Given the description of an element on the screen output the (x, y) to click on. 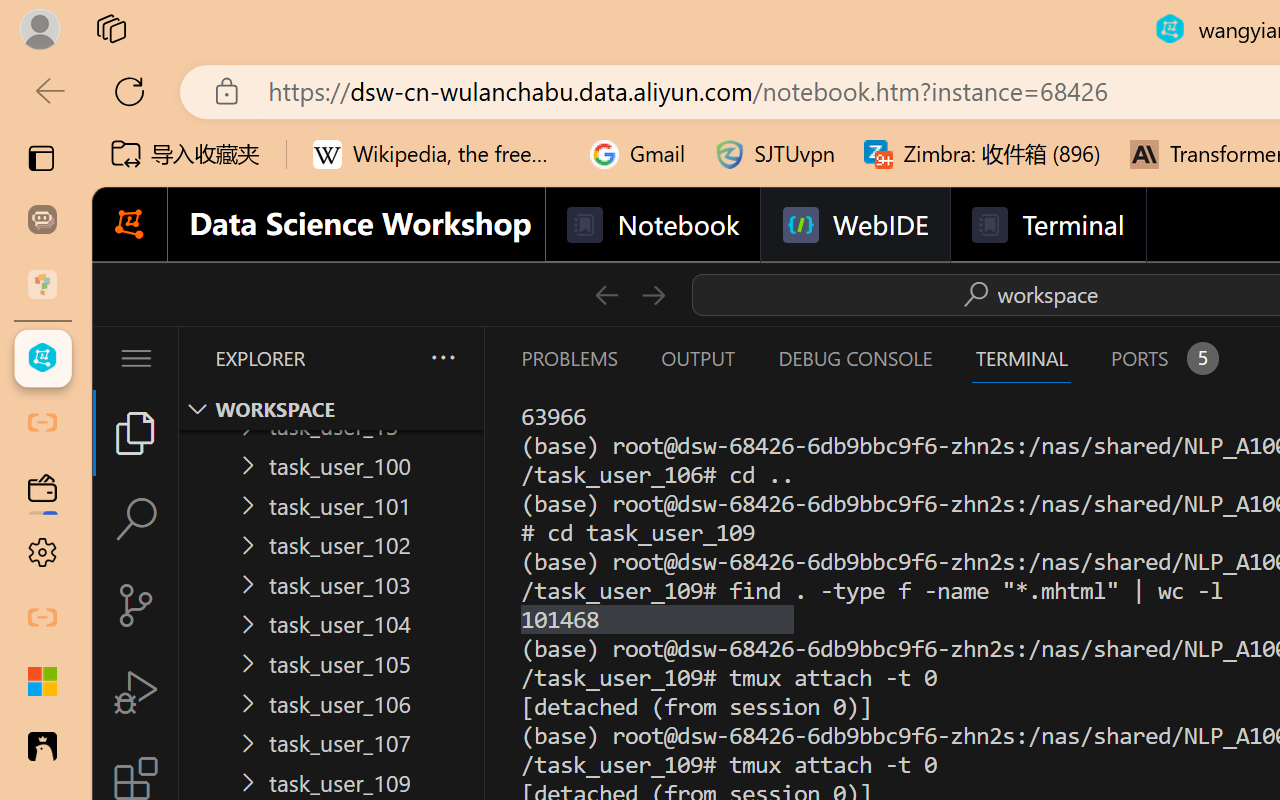
Output (Ctrl+Shift+U) (696, 358)
Ports - 5 forwarded ports (1162, 358)
SJTUvpn (774, 154)
WebIDE (854, 225)
Source Control (Ctrl+Shift+G) (135, 604)
Wikipedia, the free encyclopedia (437, 154)
Debug Console (Ctrl+Shift+Y) (854, 358)
Terminal (1046, 225)
Go Back (Alt+LeftArrow) (605, 294)
Class: actions-container (1027, 294)
